Given the description of an element on the screen output the (x, y) to click on. 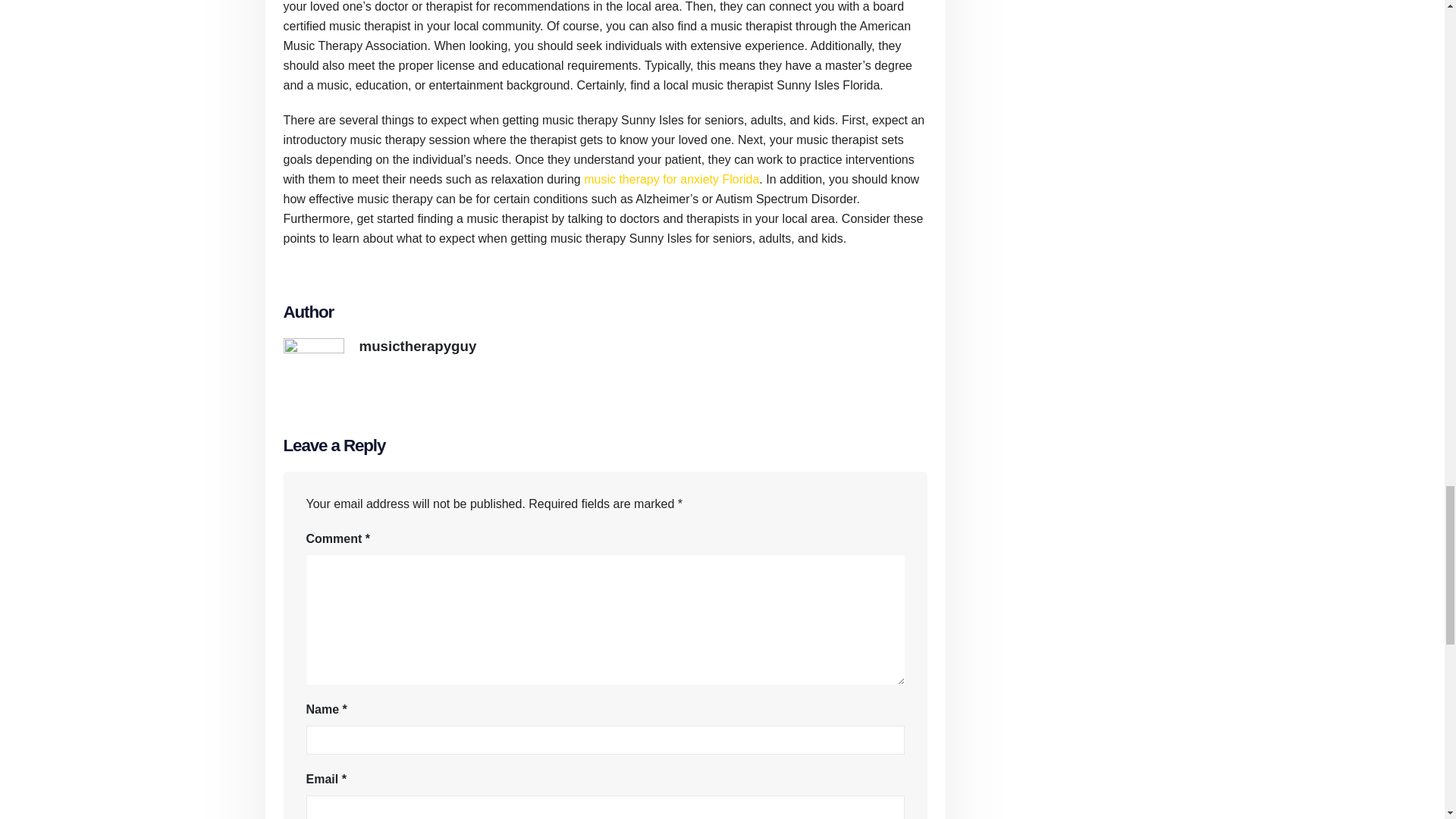
music therapy for anxiety Florida (670, 178)
Posts by musictherapyguy (418, 345)
musictherapyguy (418, 345)
